Given the description of an element on the screen output the (x, y) to click on. 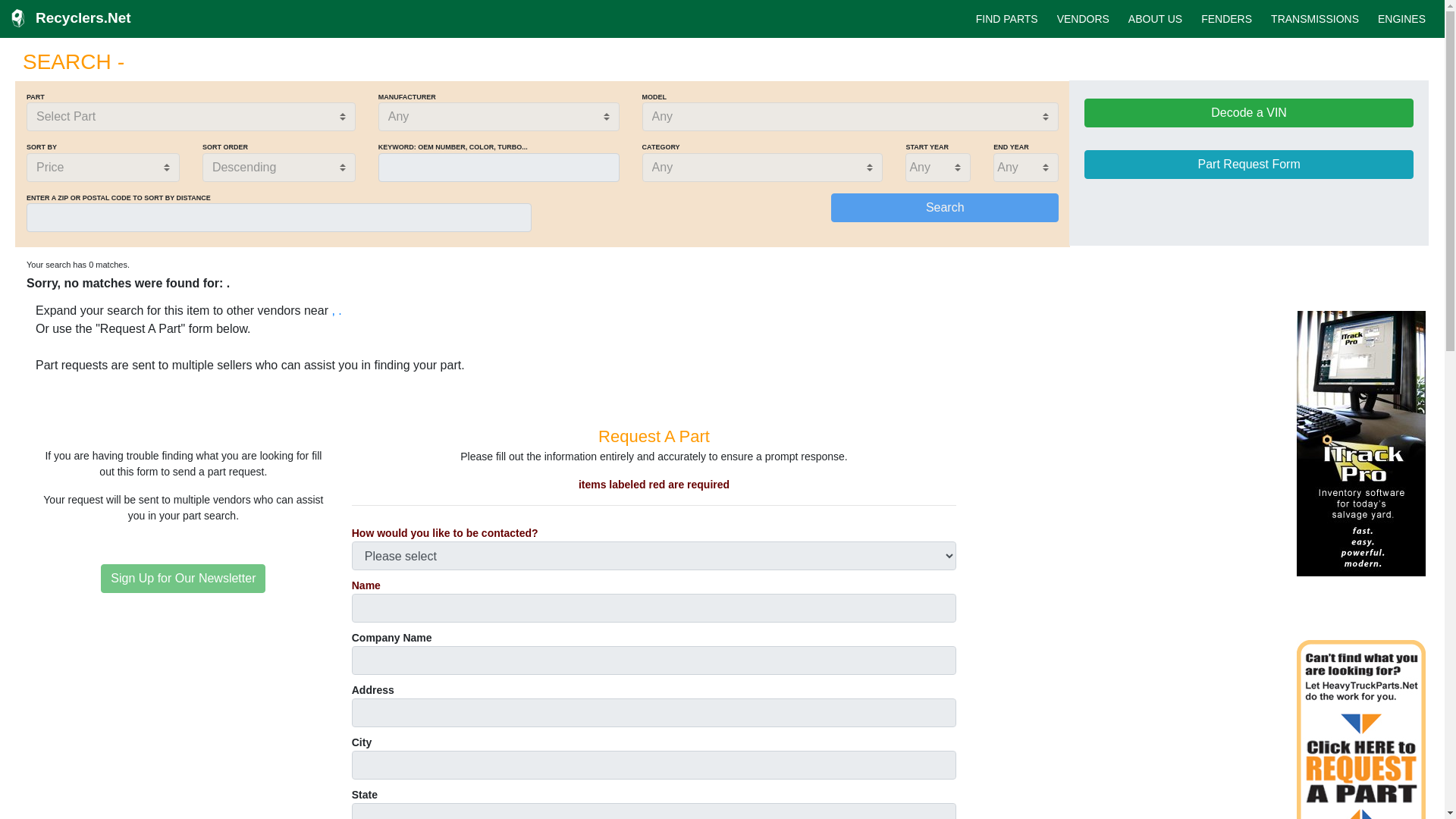
FIND PARTS (1006, 19)
ABOUT US (1155, 19)
TRANSMISSIONS (1314, 19)
ENGINES (1401, 19)
Sign Up for Our Newsletter (182, 578)
Decode a VIN (1248, 112)
Search (944, 207)
FENDERS (1226, 19)
VENDORS (1083, 19)
Part Request Form (1248, 164)
